Given the description of an element on the screen output the (x, y) to click on. 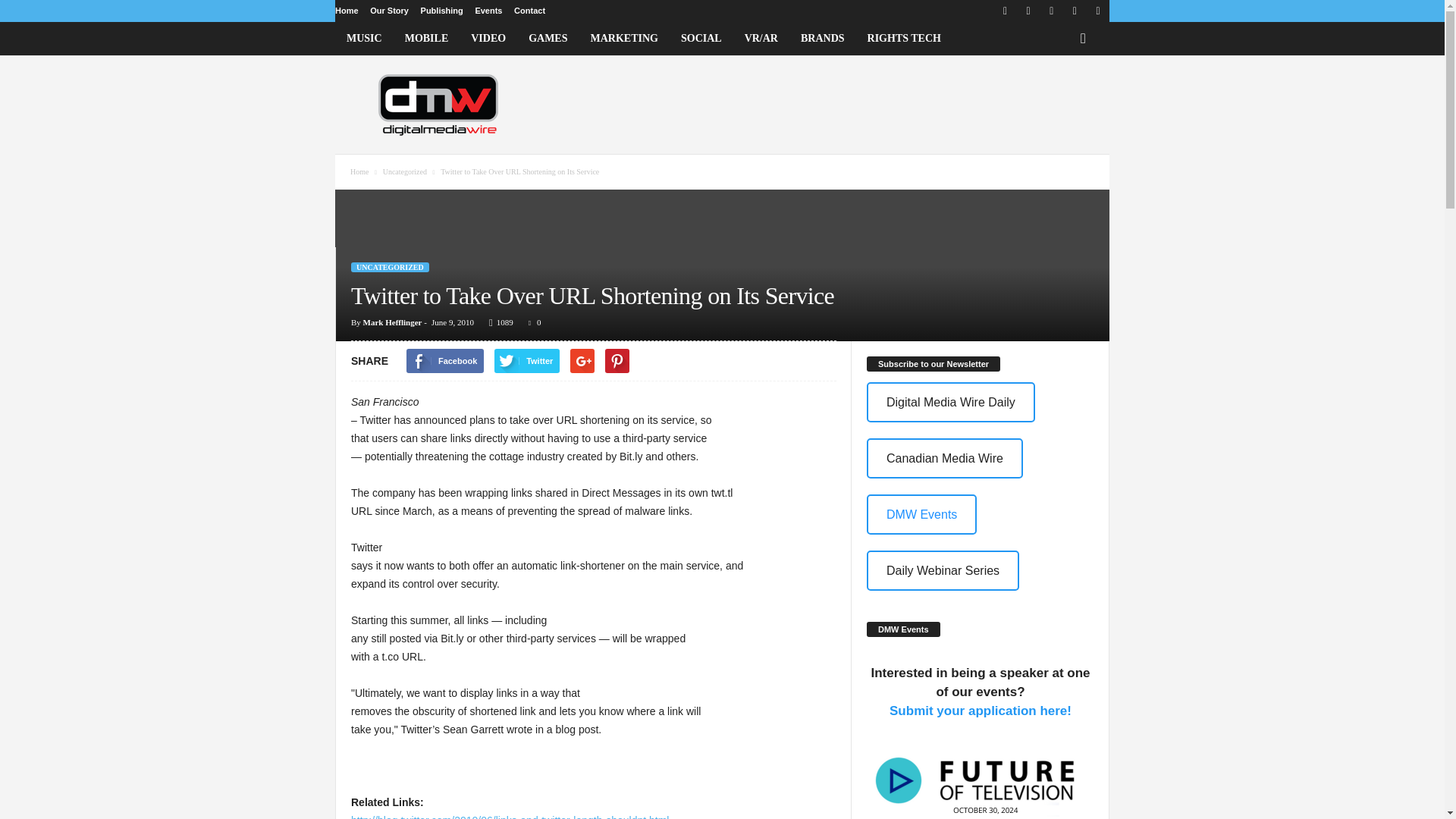
MOBILE (426, 38)
SOCIAL (701, 38)
Contact (528, 10)
Publishing (441, 10)
MUSIC (363, 38)
GAMES (547, 38)
Home (346, 10)
BRANDS (822, 38)
Digital Media Wire (437, 104)
MARKETING (624, 38)
Events (488, 10)
View all posts in Uncategorized (405, 171)
VIDEO (488, 38)
Our Story (389, 10)
RIGHTS TECH (904, 38)
